Given the description of an element on the screen output the (x, y) to click on. 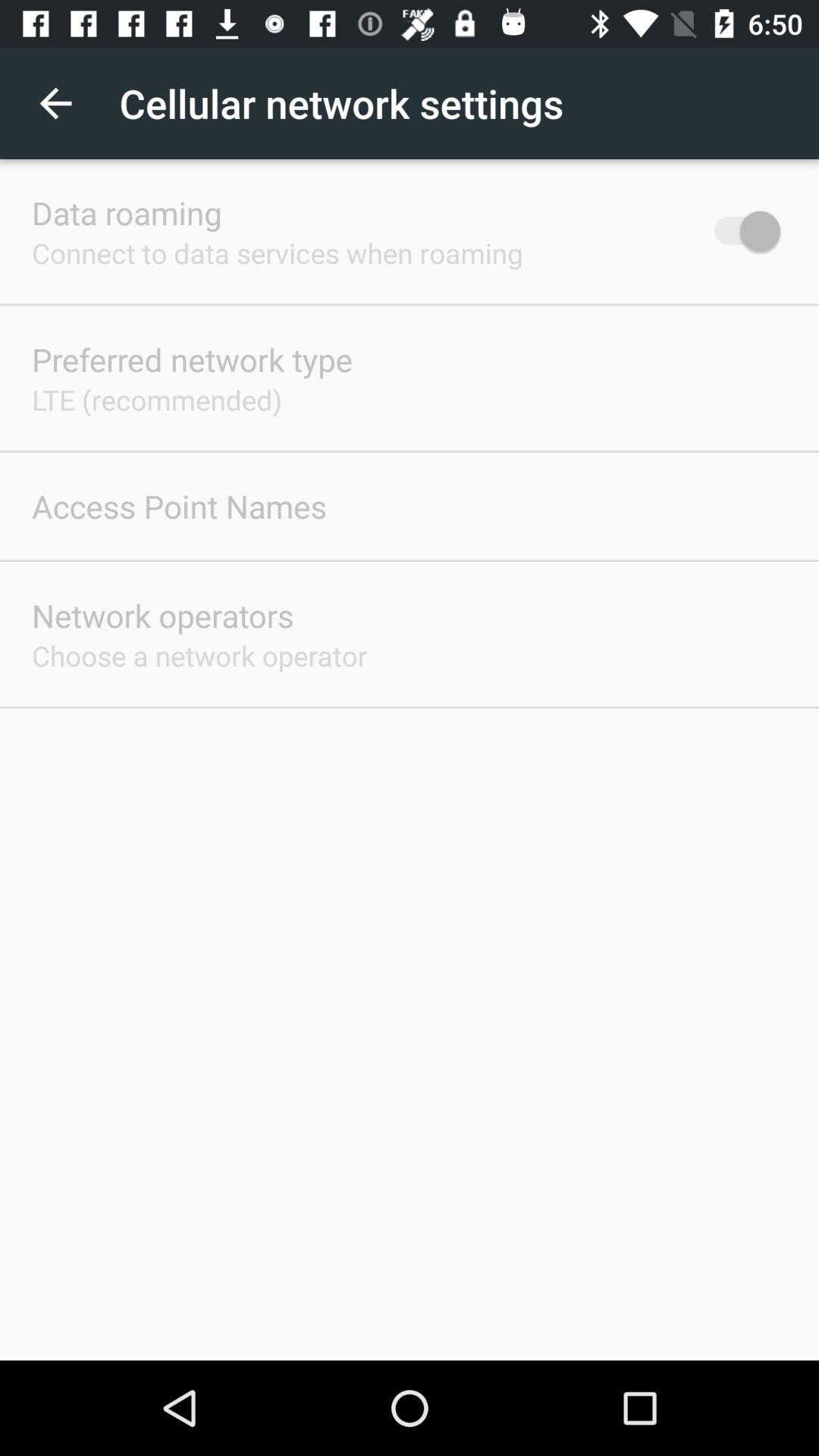
tap app below connect to data item (191, 359)
